Given the description of an element on the screen output the (x, y) to click on. 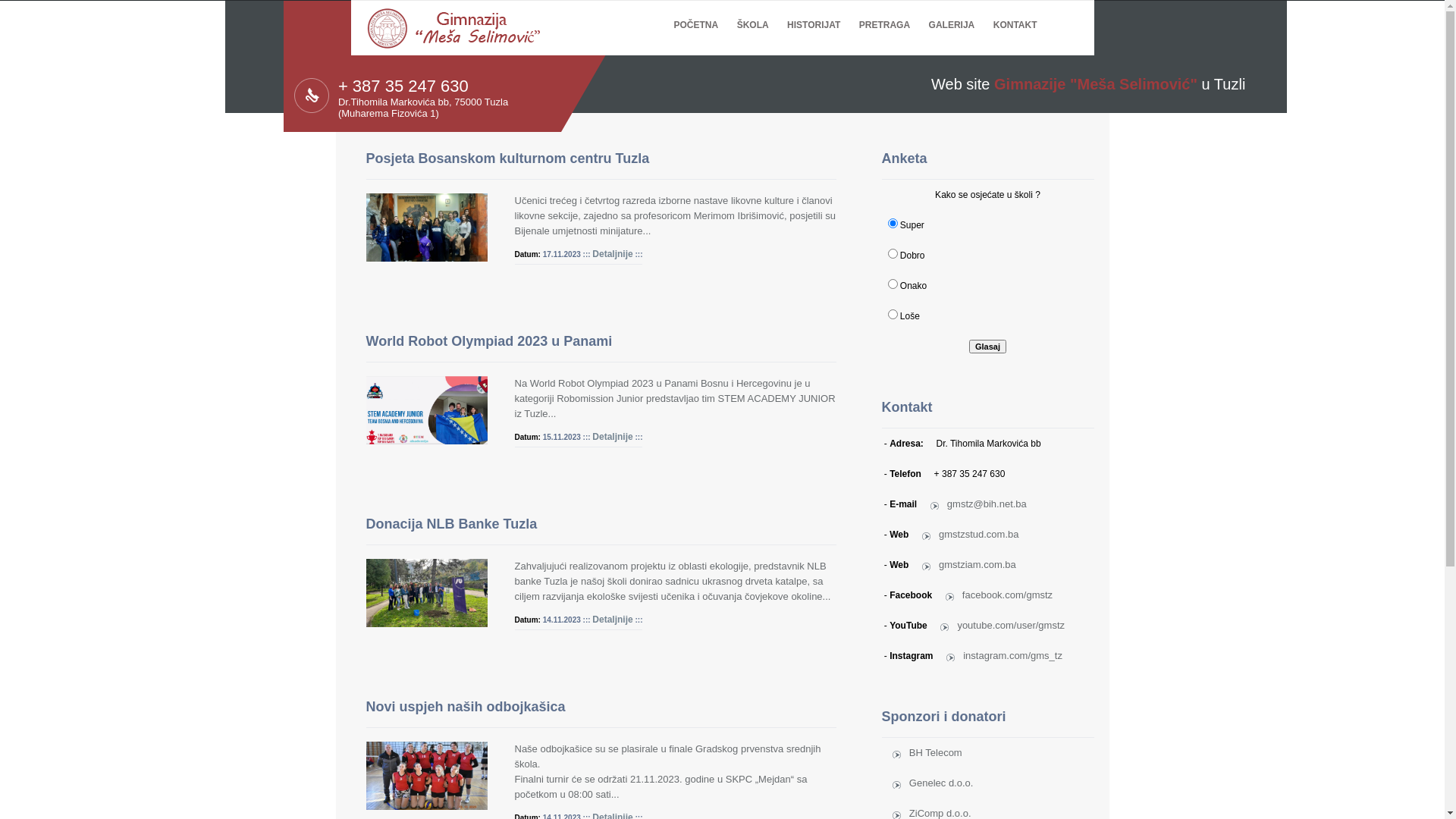
Detaljnije Element type: text (612, 253)
instagram.com/gms_tz Element type: text (1003, 655)
PRETRAGA Element type: text (884, 15)
Detaljnije Element type: text (612, 619)
gmstziam.com.ba Element type: text (968, 564)
Genelec d.o.o. Element type: text (932, 782)
gmstz@bih.net.ba Element type: text (977, 503)
GALERIJA Element type: text (951, 15)
gmstzstud.com.ba Element type: text (970, 533)
facebook.com/gmstz Element type: text (998, 594)
youtube.com/user/gmstz Element type: text (1001, 624)
BH Telecom Element type: text (926, 752)
Glasaj Element type: text (987, 346)
HISTORIJAT Element type: text (813, 15)
Detaljnije Element type: text (612, 436)
KONTAKT Element type: text (1015, 15)
